Given the description of an element on the screen output the (x, y) to click on. 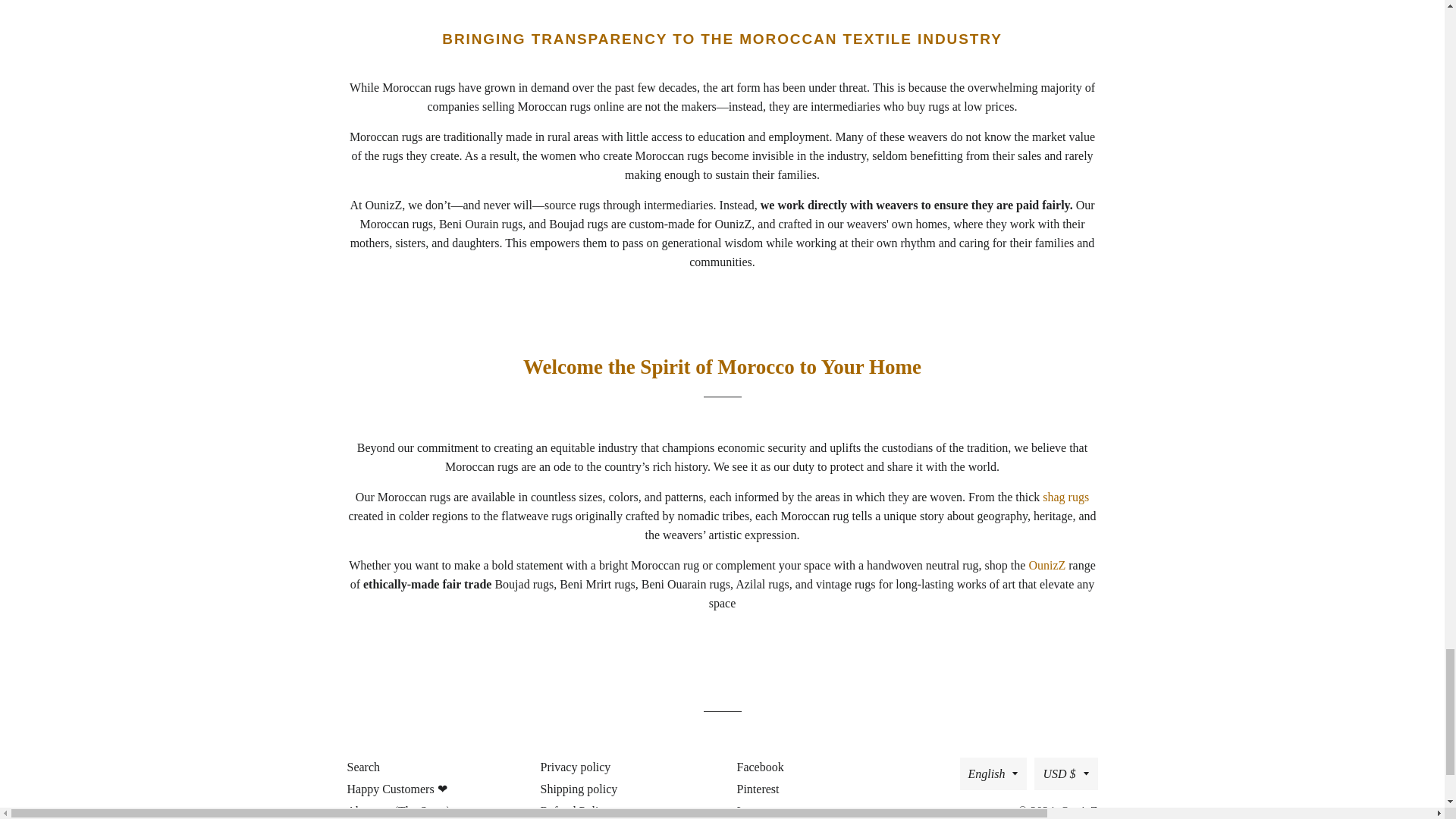
OunizZ on Facebook (758, 766)
OunizZ on Pinterest (755, 788)
Shag Rugs (1065, 496)
Moroccan Rugs OunizZ (1047, 564)
OunizZ on Instagram (759, 810)
